Given the description of an element on the screen output the (x, y) to click on. 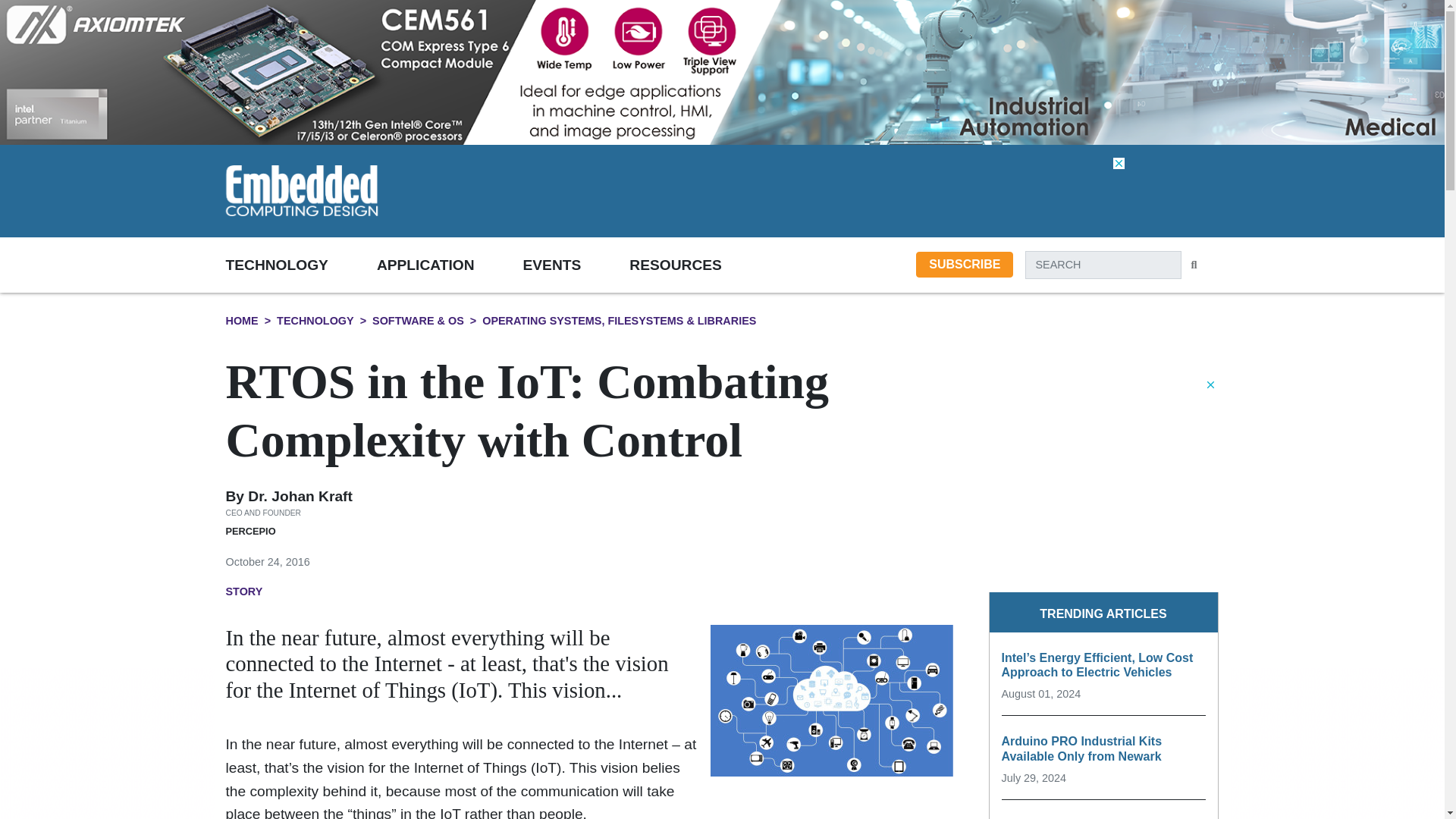
APPLICATION (449, 264)
TECHNOLOGY (301, 264)
3rd party ad content (1103, 473)
EVENTS (576, 264)
3rd party ad content (849, 190)
RESOURCES (699, 264)
